Given the description of an element on the screen output the (x, y) to click on. 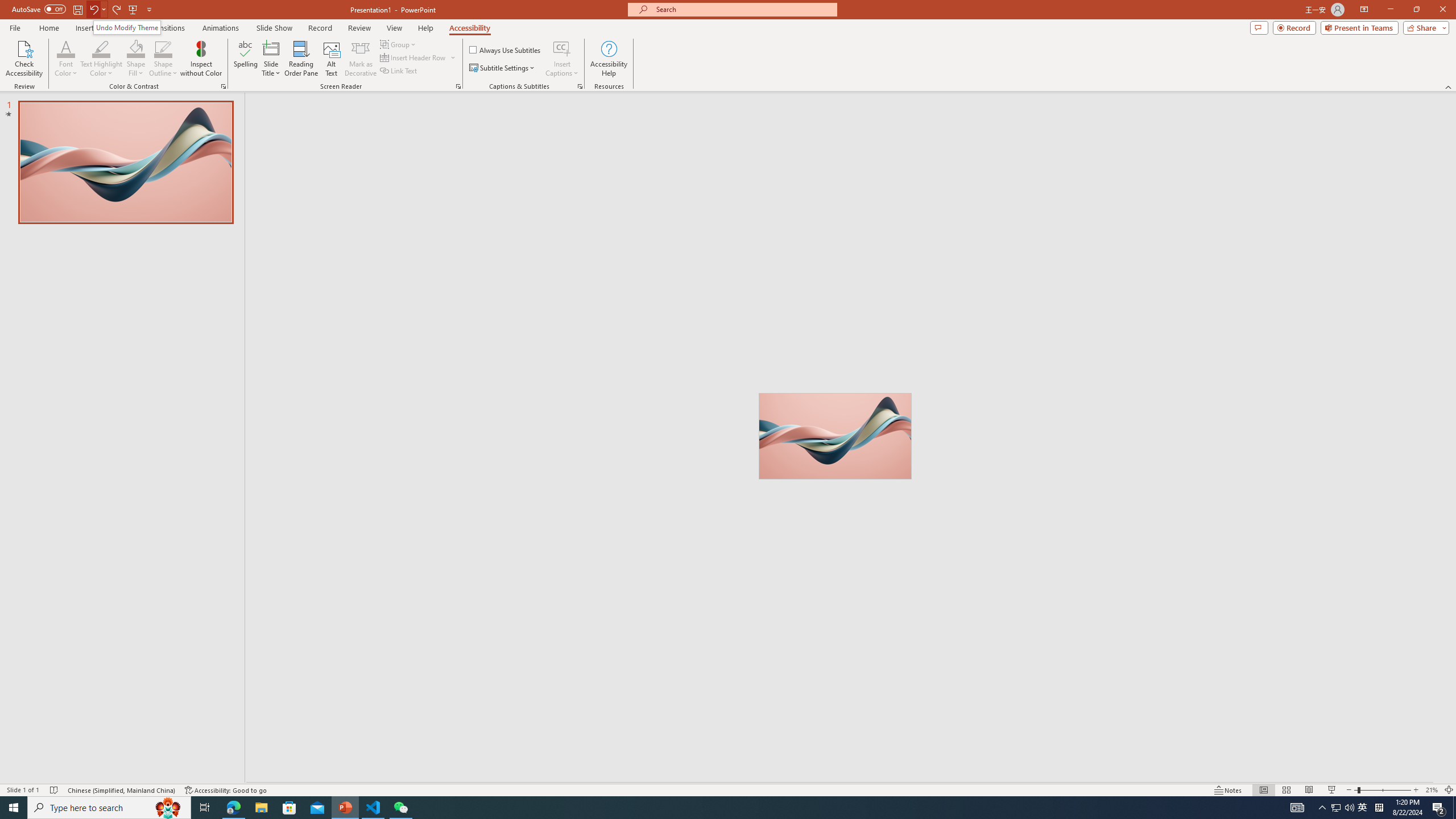
Wavy 3D art (834, 436)
Insert Header Row (413, 56)
